Given the description of an element on the screen output the (x, y) to click on. 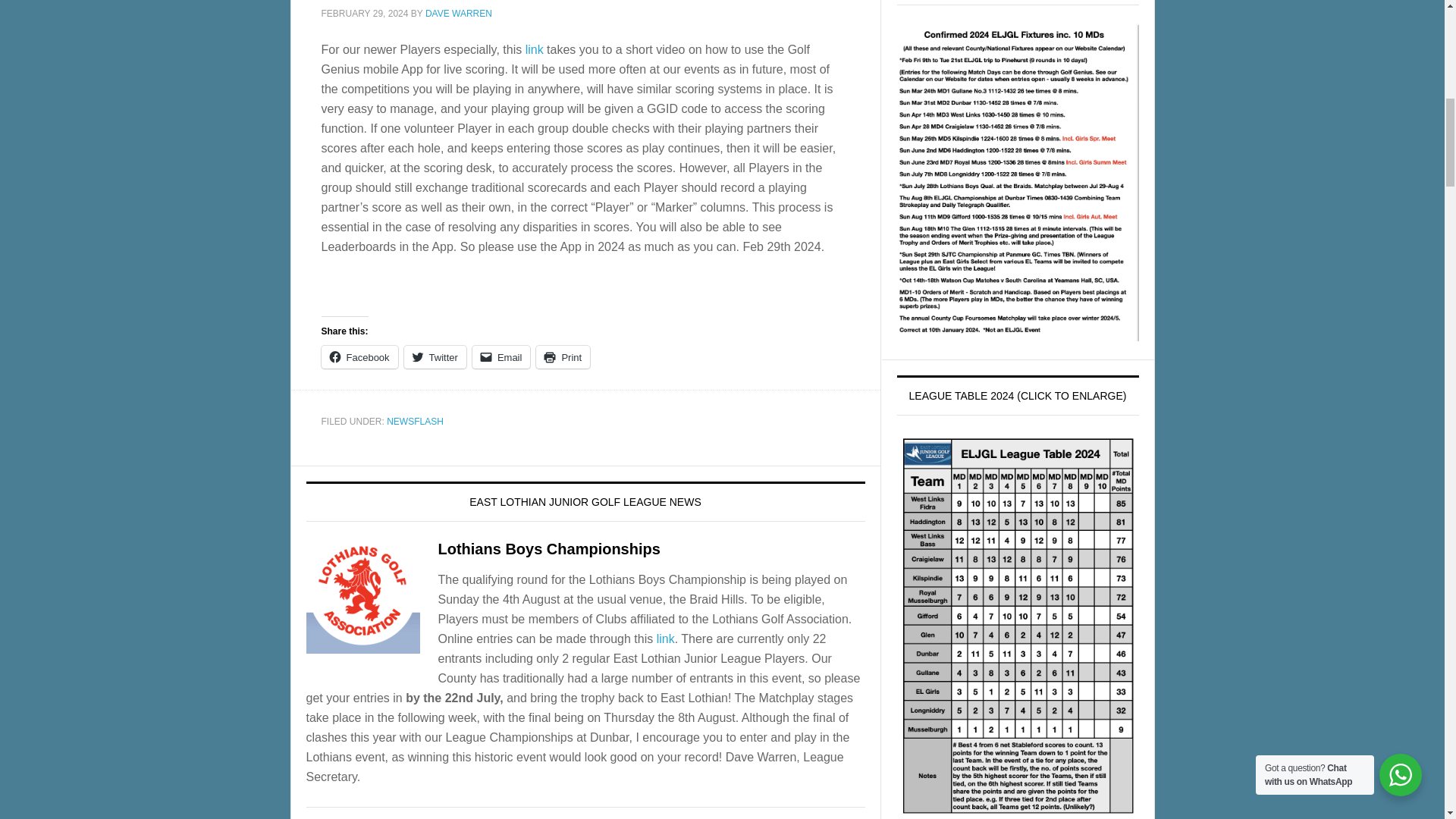
Click to email a link to a friend (501, 356)
Click to share on Facebook (359, 356)
Click to print (562, 356)
Click to share on Twitter (434, 356)
